Given the description of an element on the screen output the (x, y) to click on. 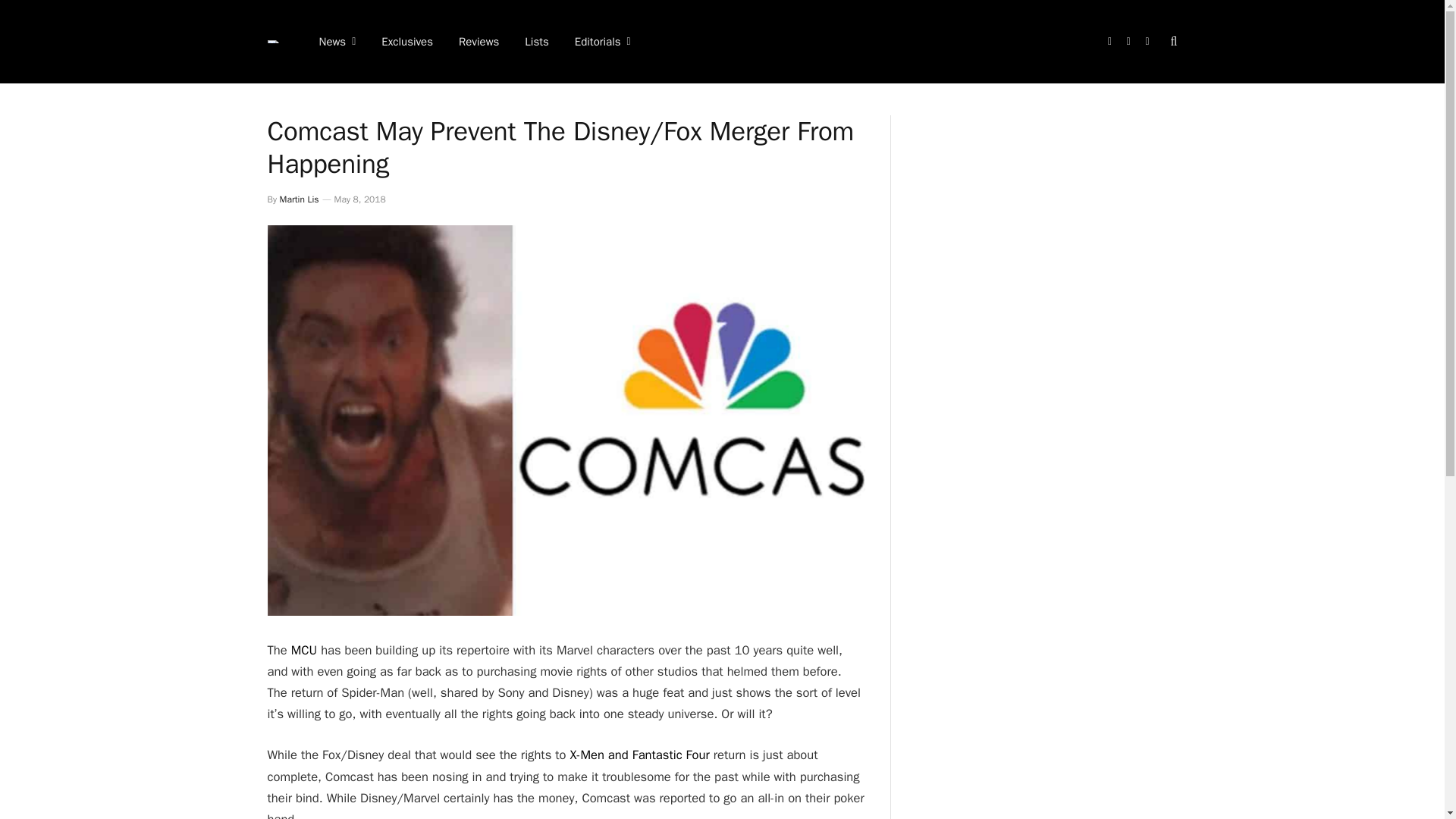
MCU (304, 650)
X-Men and Fantastic Four (639, 754)
Editorials (602, 41)
Martin Lis (298, 199)
Posts by Martin Lis (298, 199)
Exclusives (406, 41)
